Given the description of an element on the screen output the (x, y) to click on. 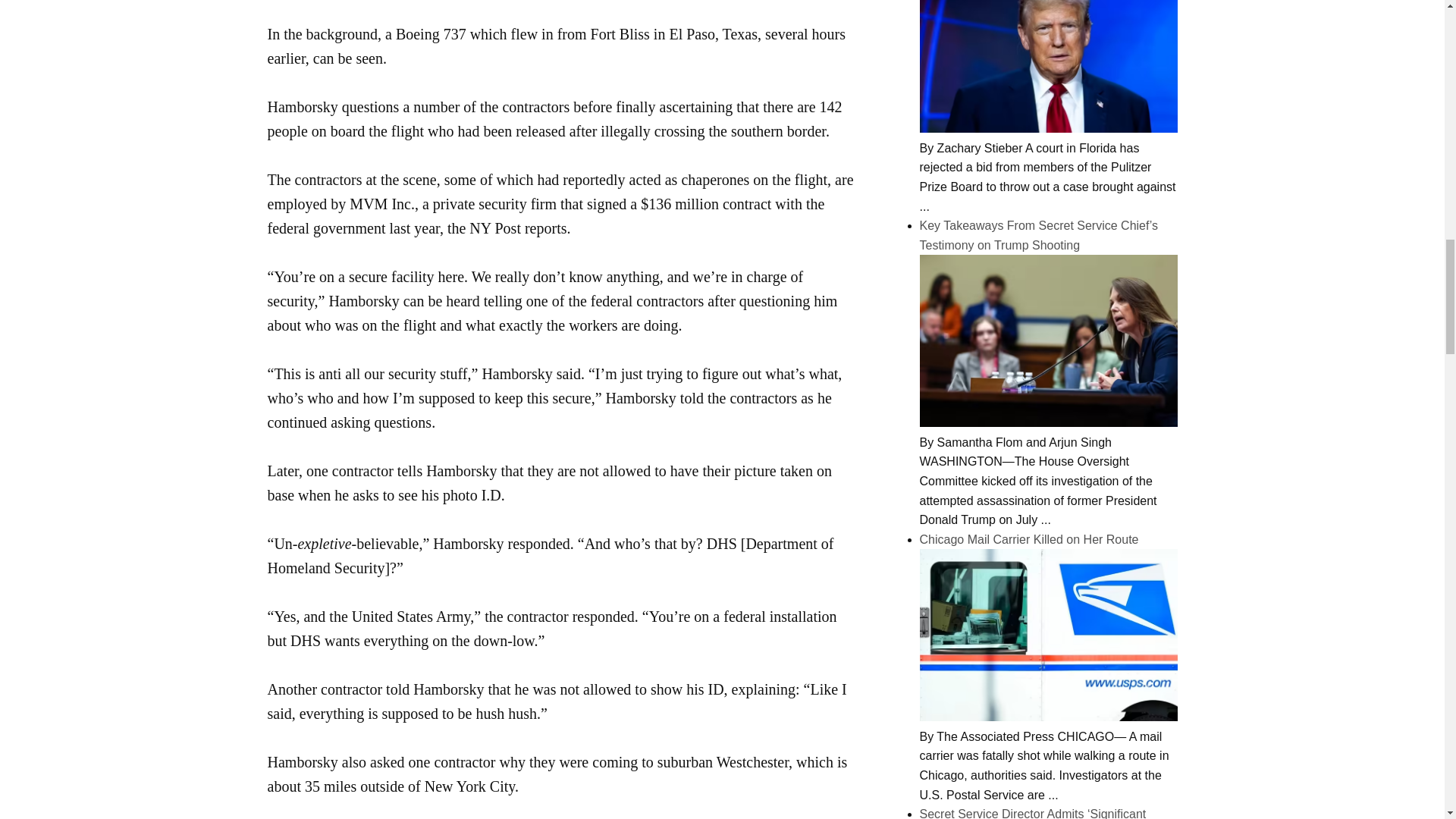
Chicago Mail Carrier Killed on Her Route (1047, 716)
